Given the description of an element on the screen output the (x, y) to click on. 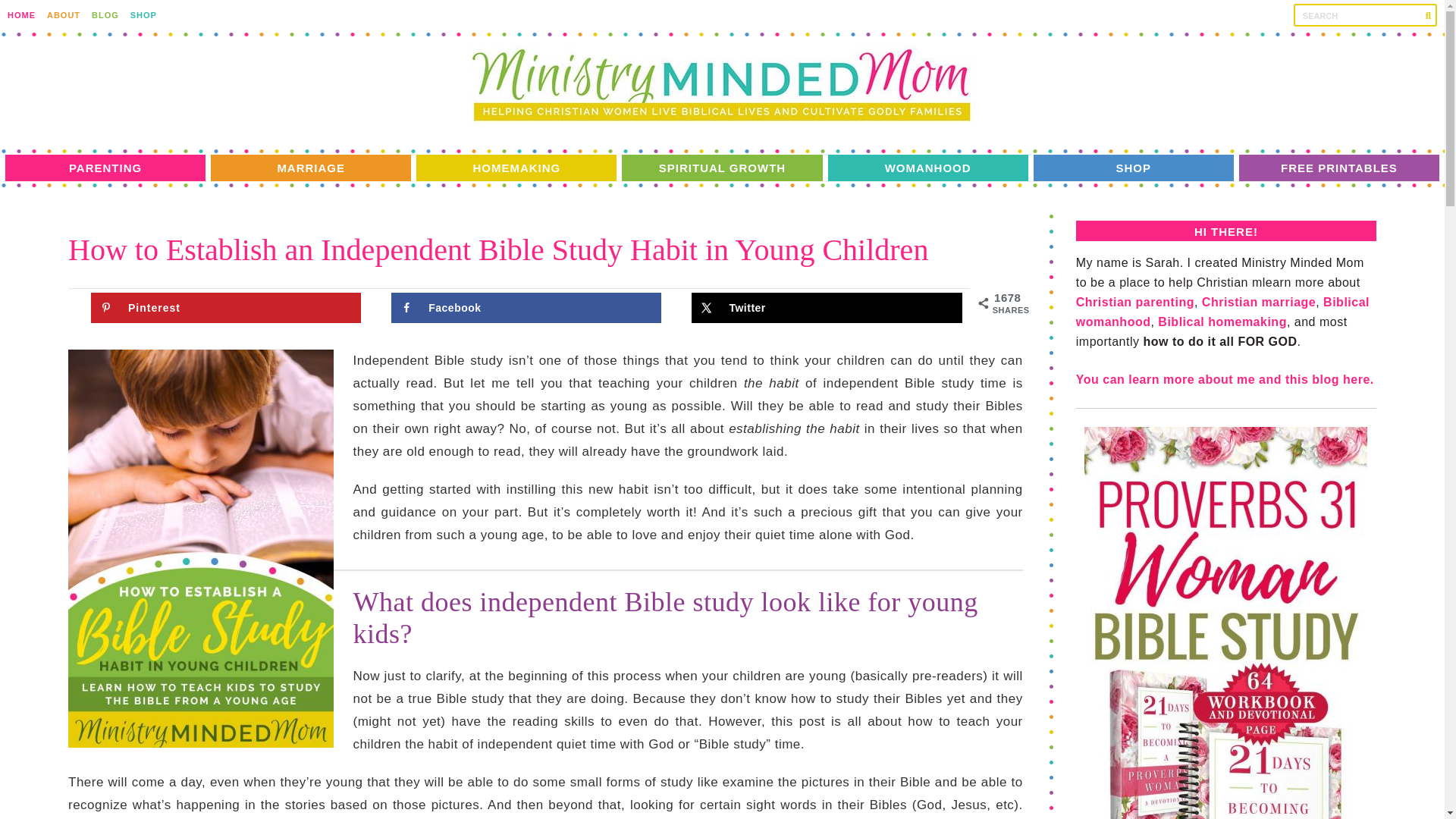
Ministry Minded Mom (721, 121)
Share on Facebook (526, 307)
SPIRITUAL GROWTH (721, 167)
ABOUT (63, 14)
WOMANHOOD (927, 167)
MARRIAGE (310, 167)
HOME (20, 14)
SHOP (144, 14)
Save to Pinterest (225, 307)
Share on X (825, 307)
Ministry Minded Mom (721, 85)
BLOG (105, 14)
PARENTING (105, 167)
HOMEMAKING (515, 167)
